Given the description of an element on the screen output the (x, y) to click on. 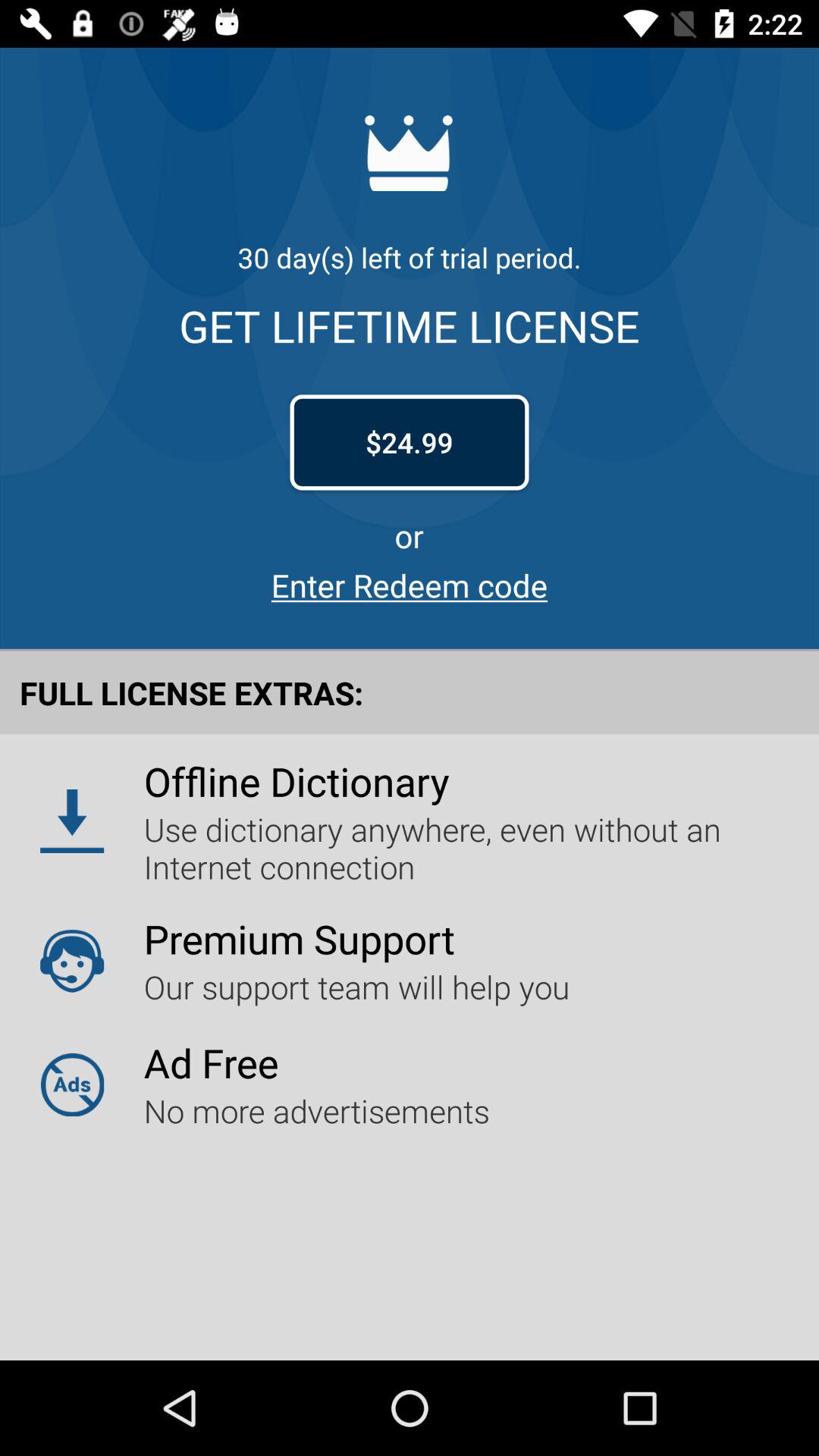
turn on the app below the get lifetime license (409, 442)
